Given the description of an element on the screen output the (x, y) to click on. 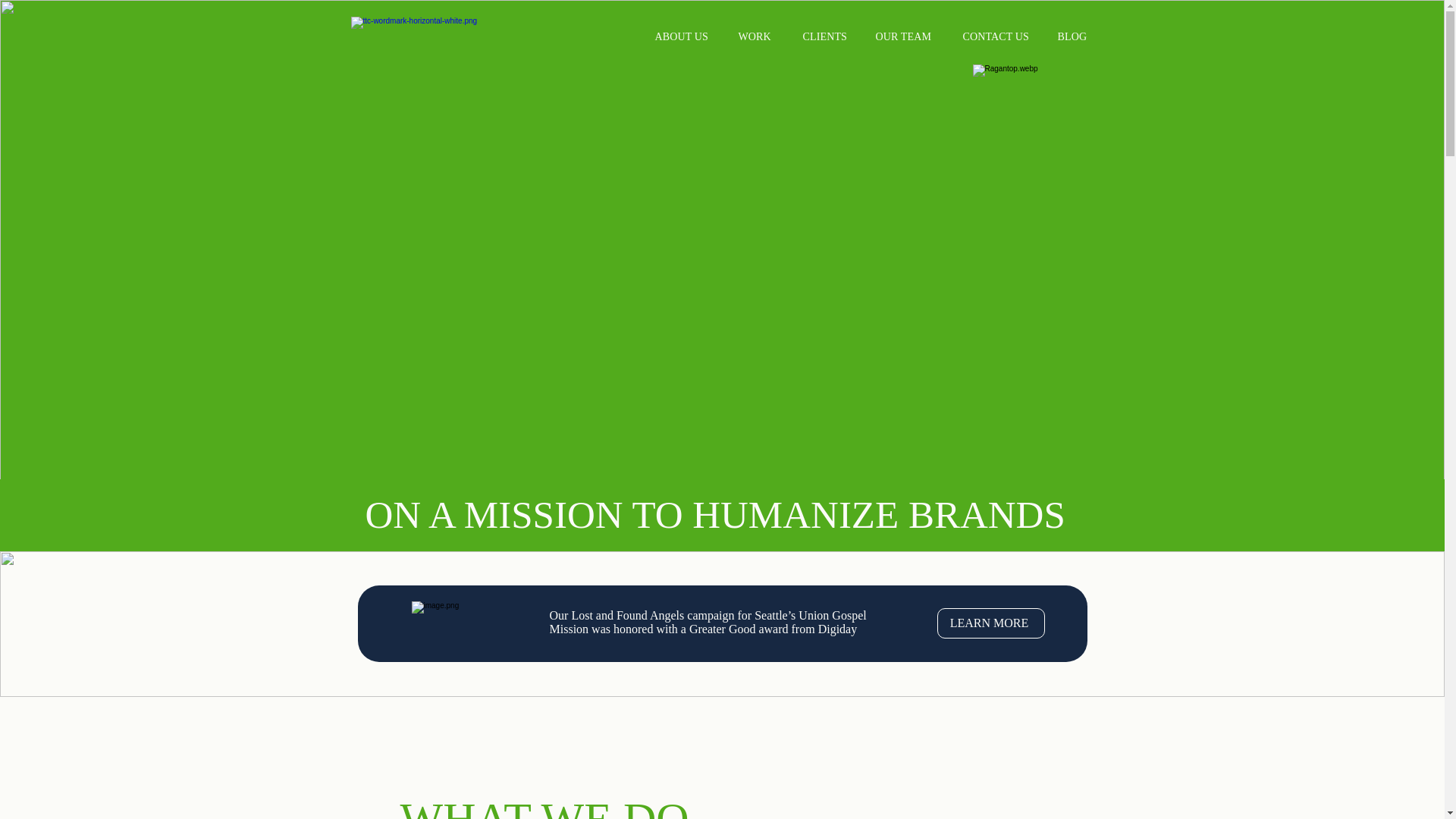
WORK (754, 36)
LEARN MORE (991, 623)
OUR TEAM (903, 36)
ABOUT US (681, 36)
CONTACT US (995, 36)
CLIENTS (824, 36)
BLOG (1071, 36)
